Given the description of an element on the screen output the (x, y) to click on. 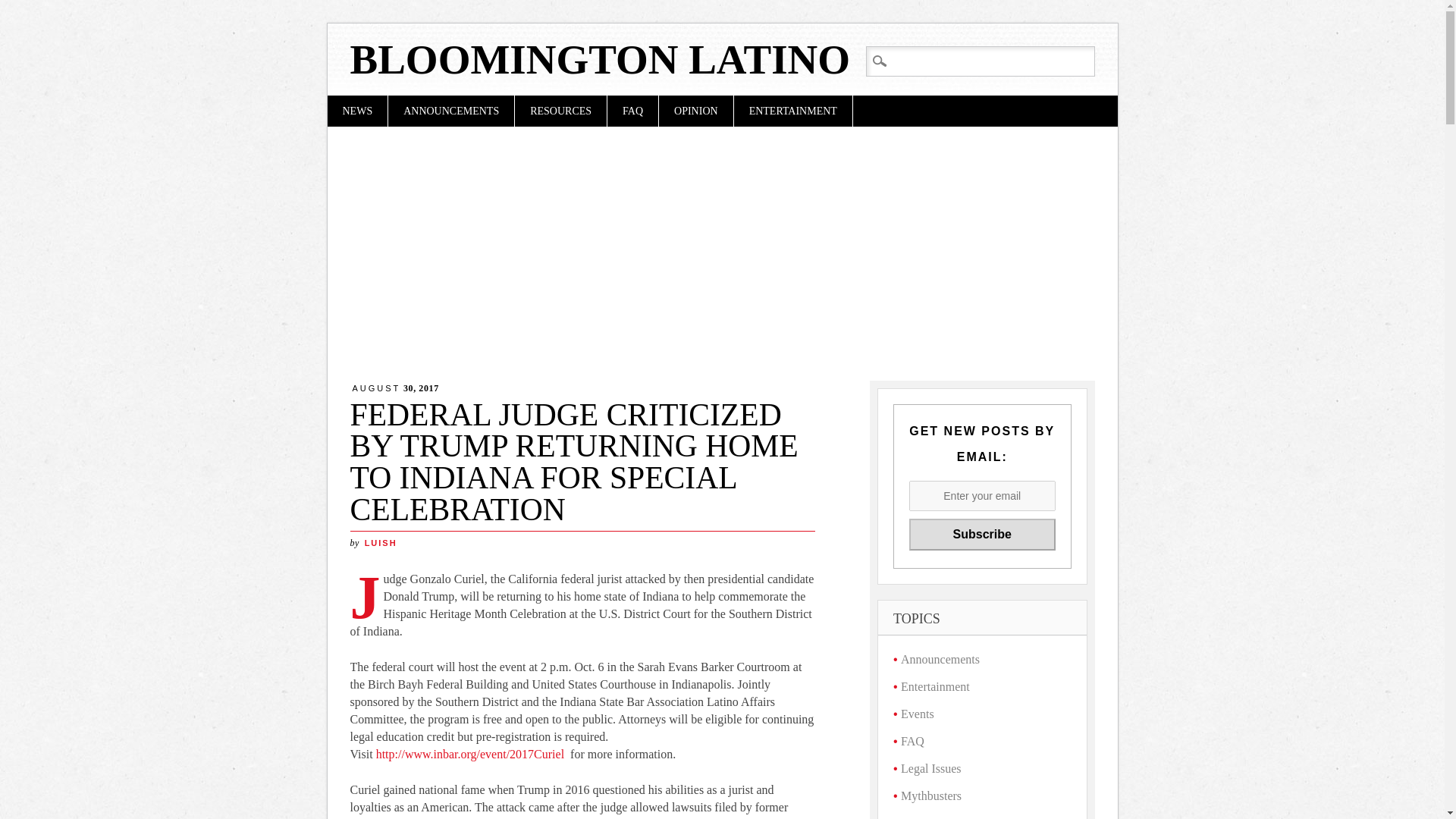
Subscribe (981, 534)
AUGUST 30, 2017 (395, 388)
LUISH (380, 542)
Announcements (940, 658)
NEWS (357, 110)
Bloomington Latino (600, 59)
Search (24, 9)
Mythbusters (930, 795)
7:24 pm (395, 388)
ENTERTAINMENT (792, 110)
